Given the description of an element on the screen output the (x, y) to click on. 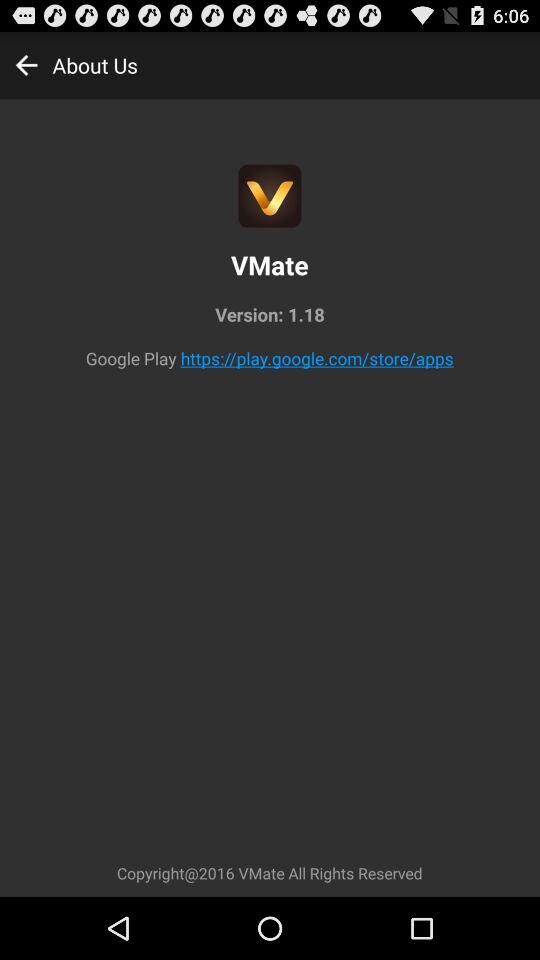
choose the app below version: 1.18 icon (316, 357)
